Given the description of an element on the screen output the (x, y) to click on. 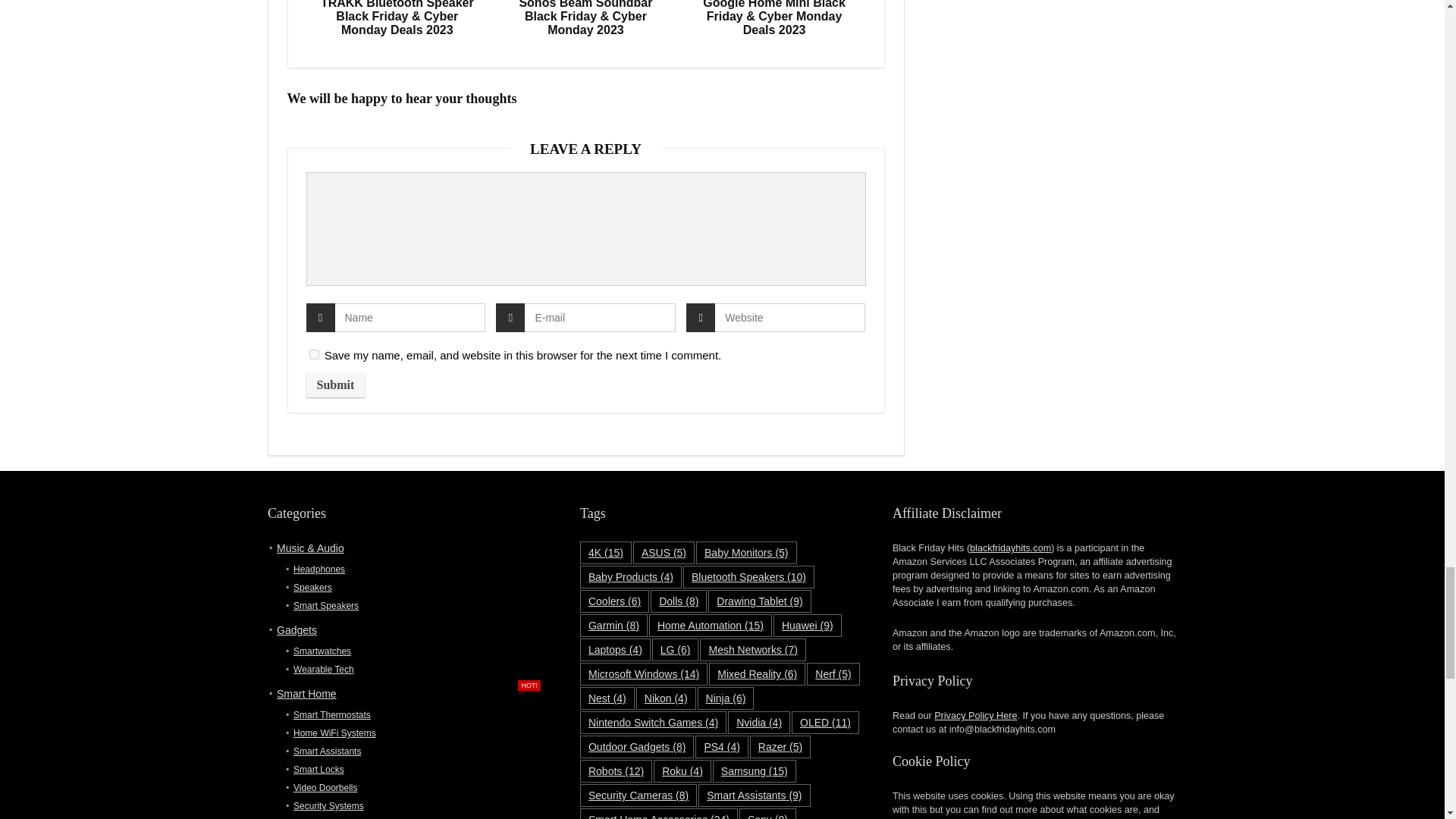
Submit (335, 385)
yes (313, 354)
